Given the description of an element on the screen output the (x, y) to click on. 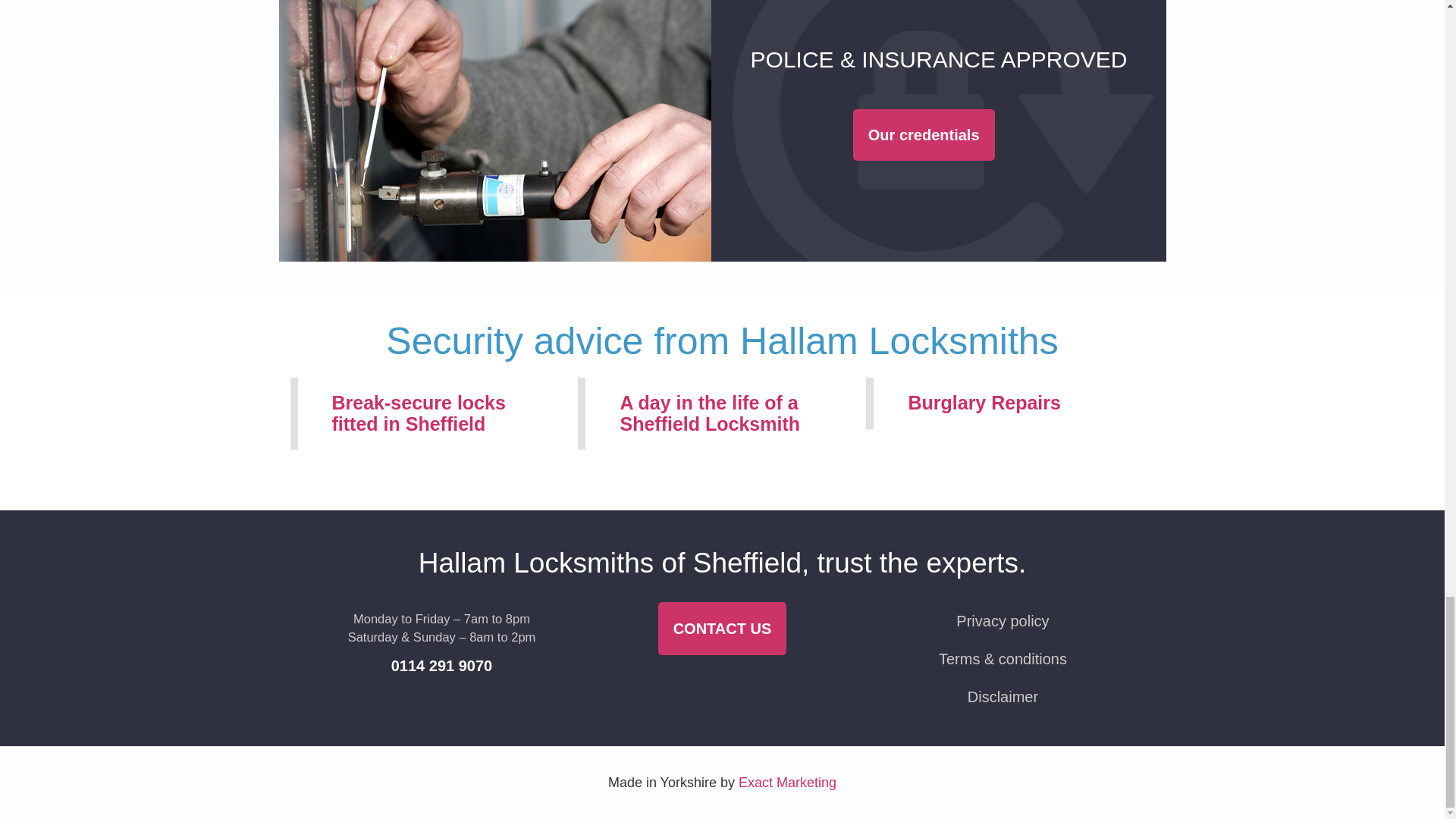
Privacy policy (1002, 620)
CONTACT US (722, 628)
A day in the life of a Sheffield Locksmith (725, 413)
Break-secure locks fitted in Sheffield (437, 413)
Our credentials (923, 134)
Exact Marketing (786, 782)
0114 291 9070 (441, 665)
Disclaimer (1003, 696)
Burglary Repairs (984, 403)
